Given the description of an element on the screen output the (x, y) to click on. 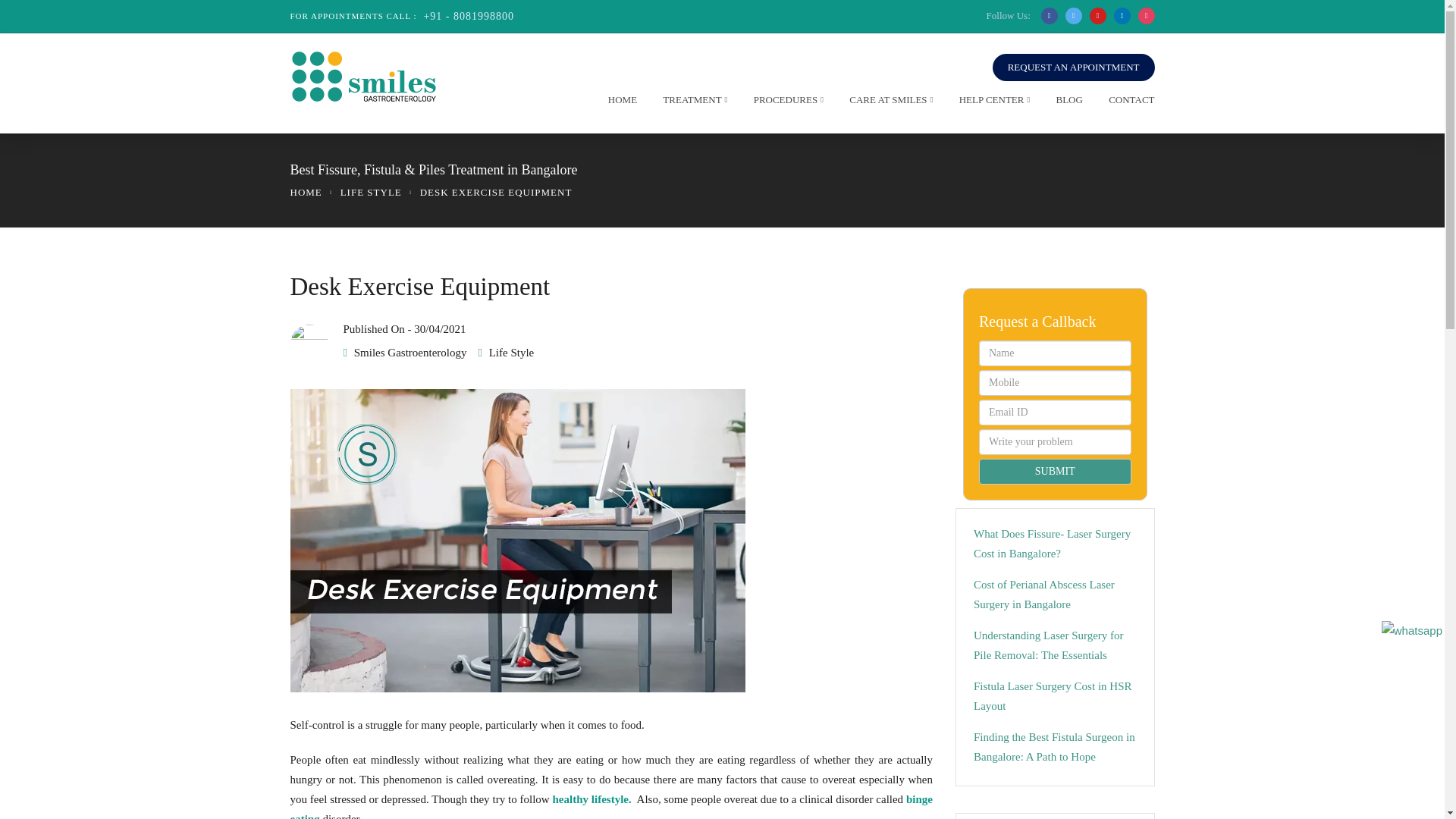
TREATMENT (689, 103)
REQUEST AN APPOINTMENT (1073, 67)
SUBMIT (1054, 471)
HOME (618, 103)
